Given the description of an element on the screen output the (x, y) to click on. 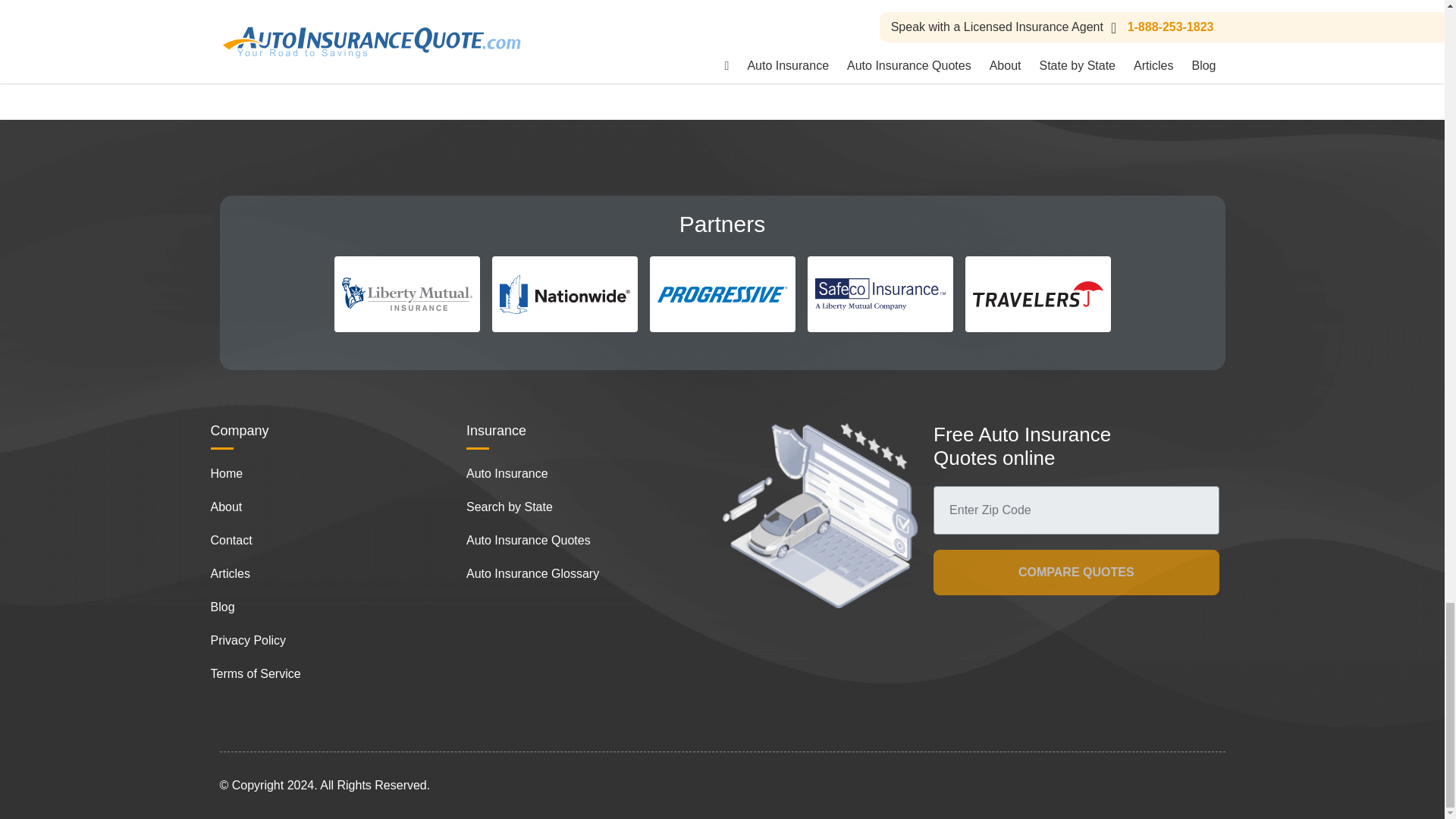
About (227, 506)
Articles (230, 573)
Home (227, 472)
Blog (222, 606)
Terms of Service (256, 673)
Read More... (275, 1)
Contact (231, 540)
Privacy Policy (248, 640)
Read More... (956, 12)
Read More... (615, 12)
